Given the description of an element on the screen output the (x, y) to click on. 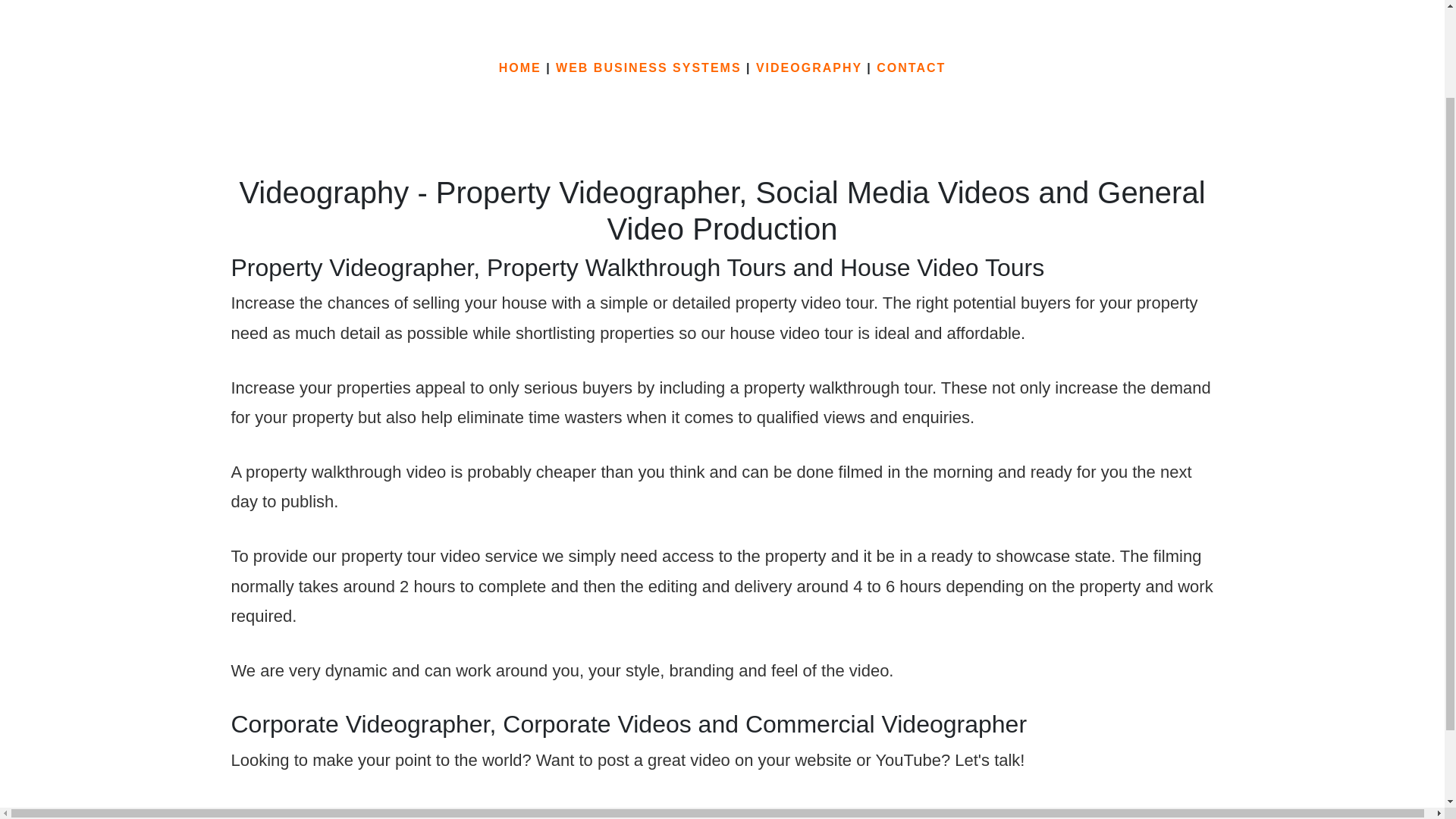
HOME (520, 67)
CONTACT (910, 67)
VIDEOGRAPHY (808, 67)
WEB BUSINESS SYSTEMS (648, 67)
